Given the description of an element on the screen output the (x, y) to click on. 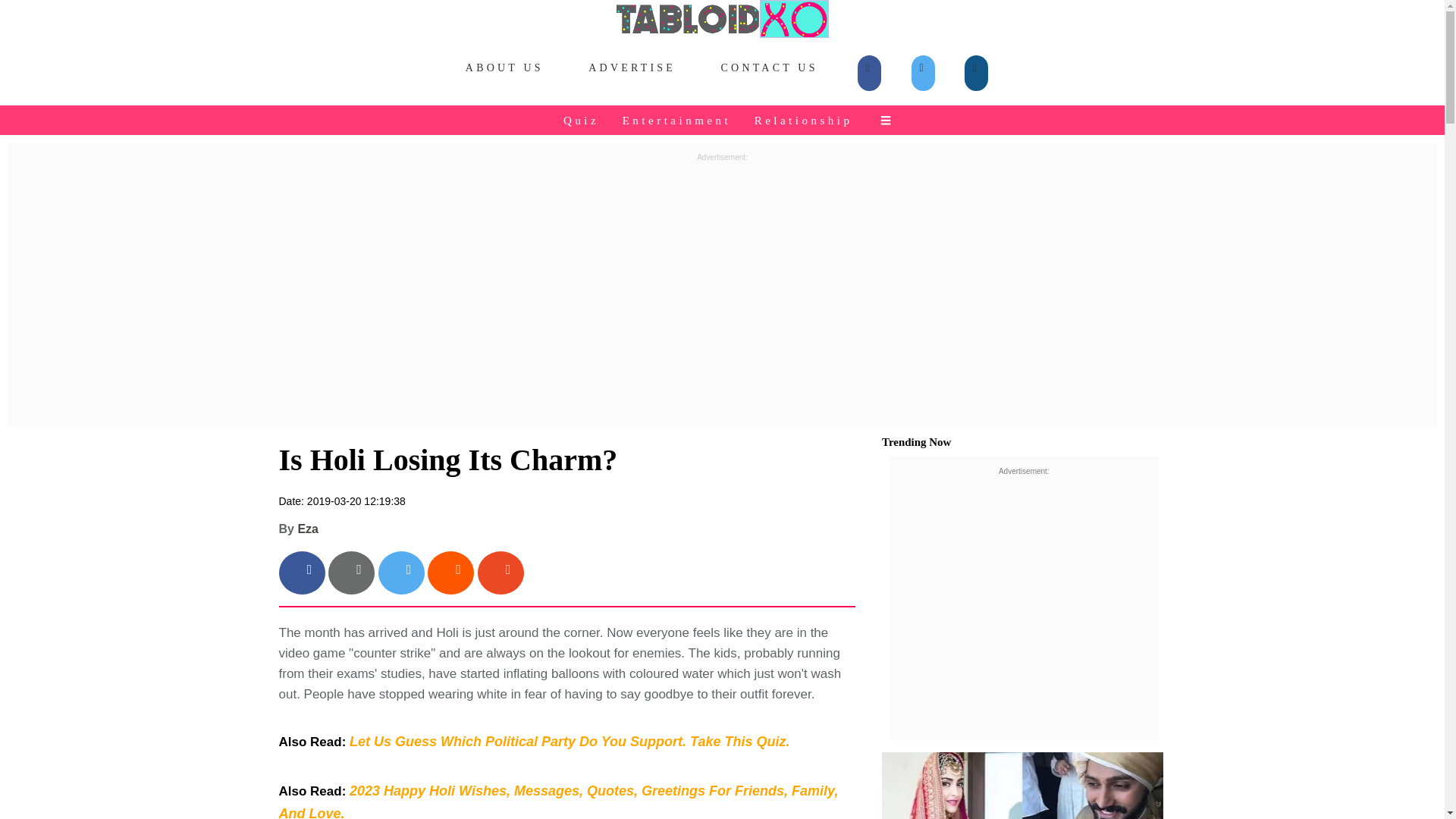
Quiz (582, 120)
ABOUT US (504, 67)
Entertainment (678, 120)
CONTACT US (769, 67)
Relationship (804, 120)
ADVERTISE (631, 67)
